Given the description of an element on the screen output the (x, y) to click on. 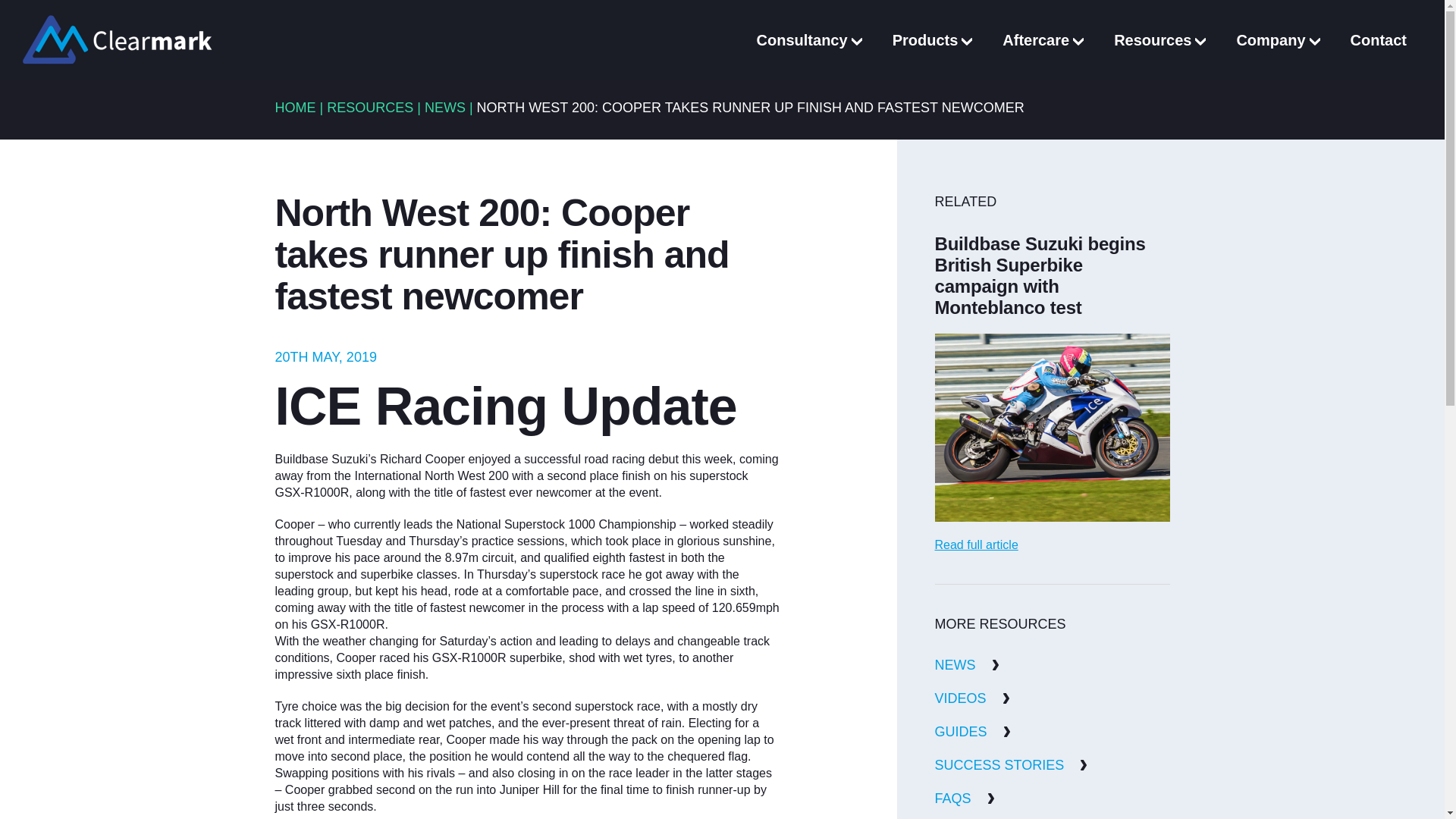
FAQS (964, 798)
Company (1277, 39)
Link to view more Guides (972, 731)
SUCCESS STORIES (1010, 764)
Link to view more News (966, 665)
VIDEOS (971, 698)
HOME (295, 107)
GUIDES (972, 731)
NEWS (966, 665)
Link to view more Success Stories (1010, 764)
